Given the description of an element on the screen output the (x, y) to click on. 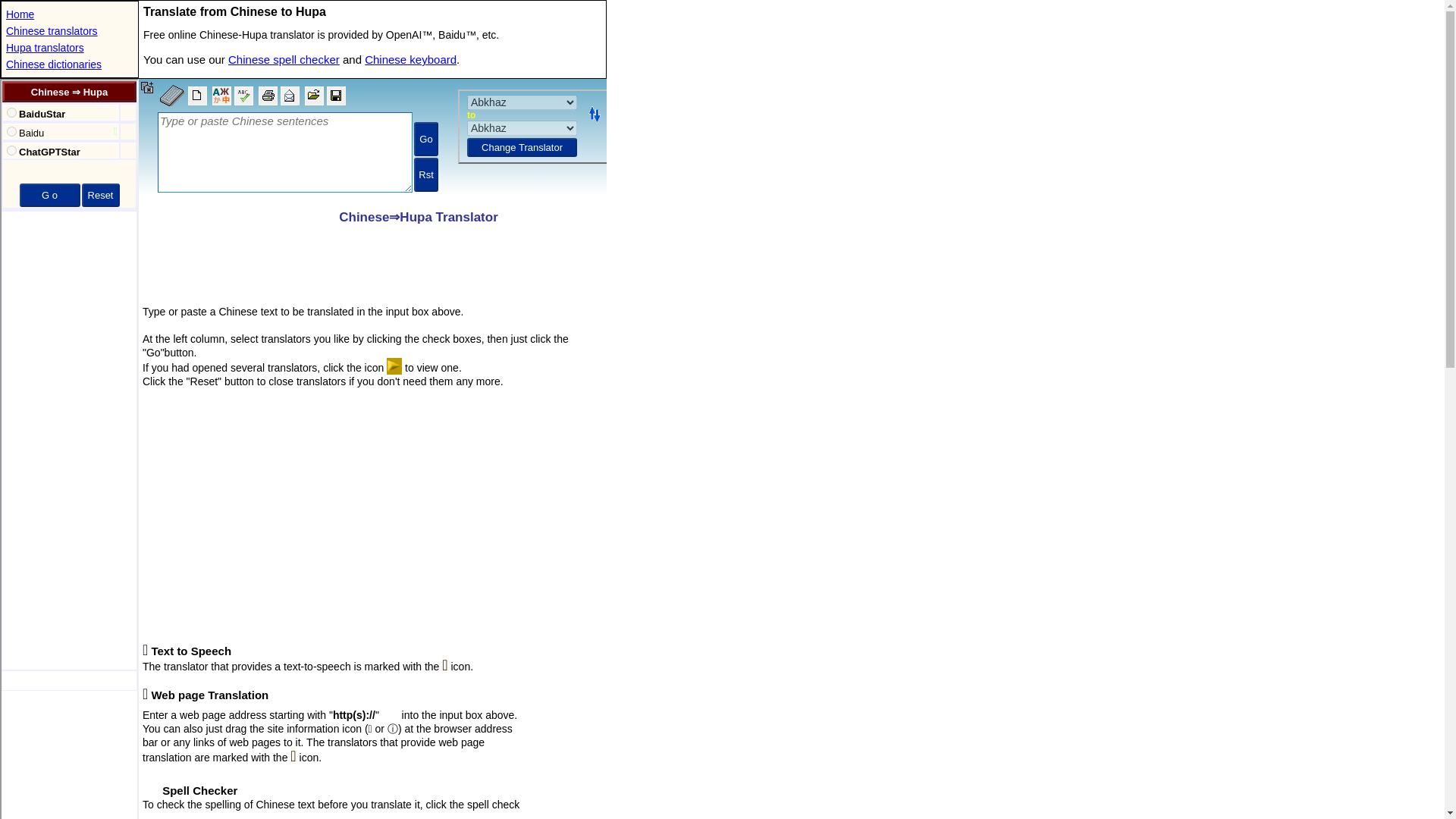
Enter here a Chinese text to translate (372, 138)
Chinese keyboard (411, 59)
Chinese translators (51, 30)
Home Page (19, 14)
Online Hupa translators (44, 47)
Hupa translators (44, 47)
Chinese dictionaries (53, 64)
Home (19, 14)
Online Chinese dictionaries (53, 64)
Online Chinese translators (51, 30)
Chinese spell checker (283, 59)
Online Chinese keyboard (411, 59)
Online Chinese spell checker (283, 59)
